Given the description of an element on the screen output the (x, y) to click on. 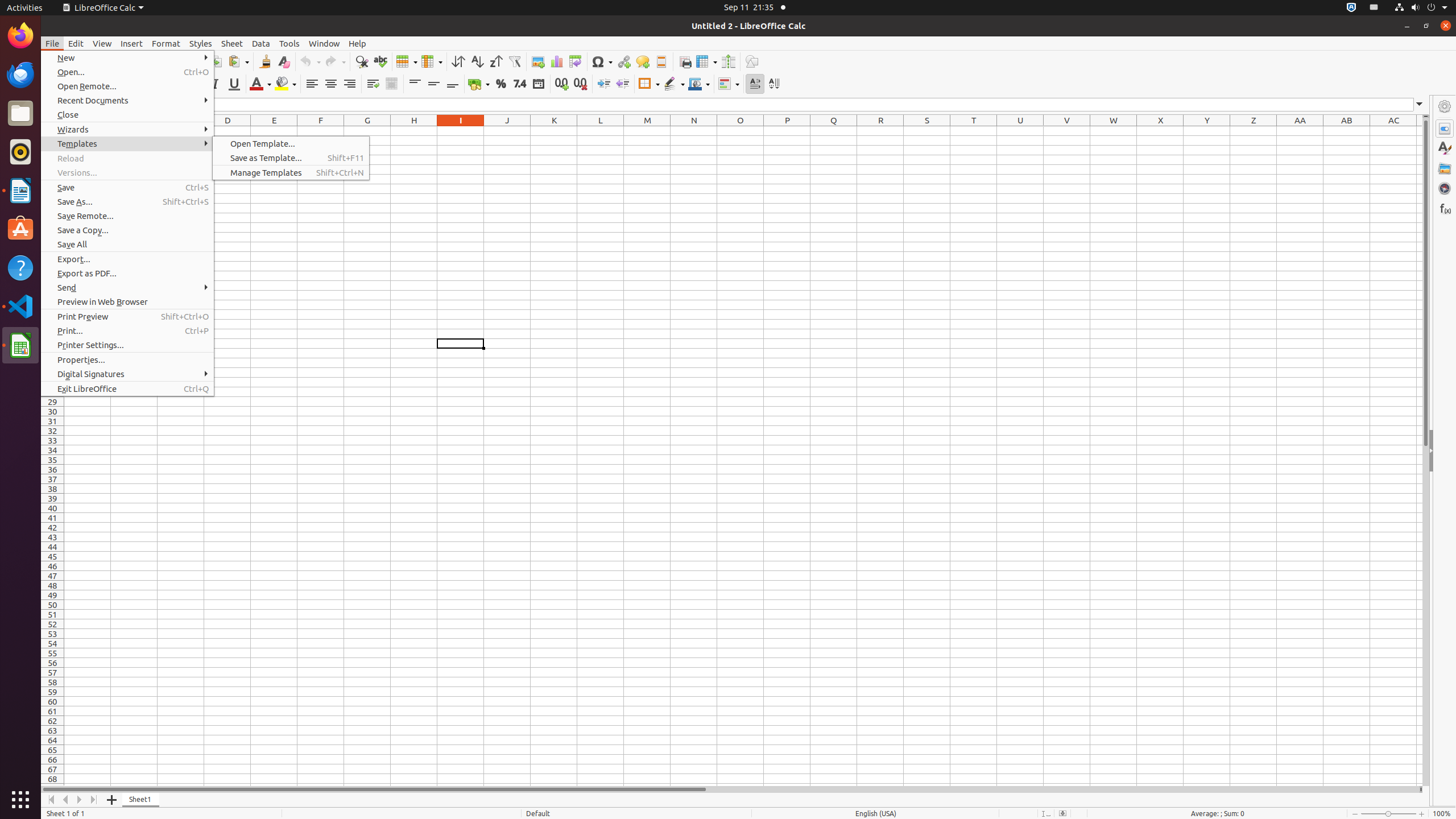
Freeze Rows and Columns Element type: push-button (705, 61)
AA1 Element type: table-cell (1299, 130)
Border Style Element type: push-button (673, 83)
Styles Element type: radio-button (1444, 148)
Move Left Element type: push-button (65, 799)
